Given the description of an element on the screen output the (x, y) to click on. 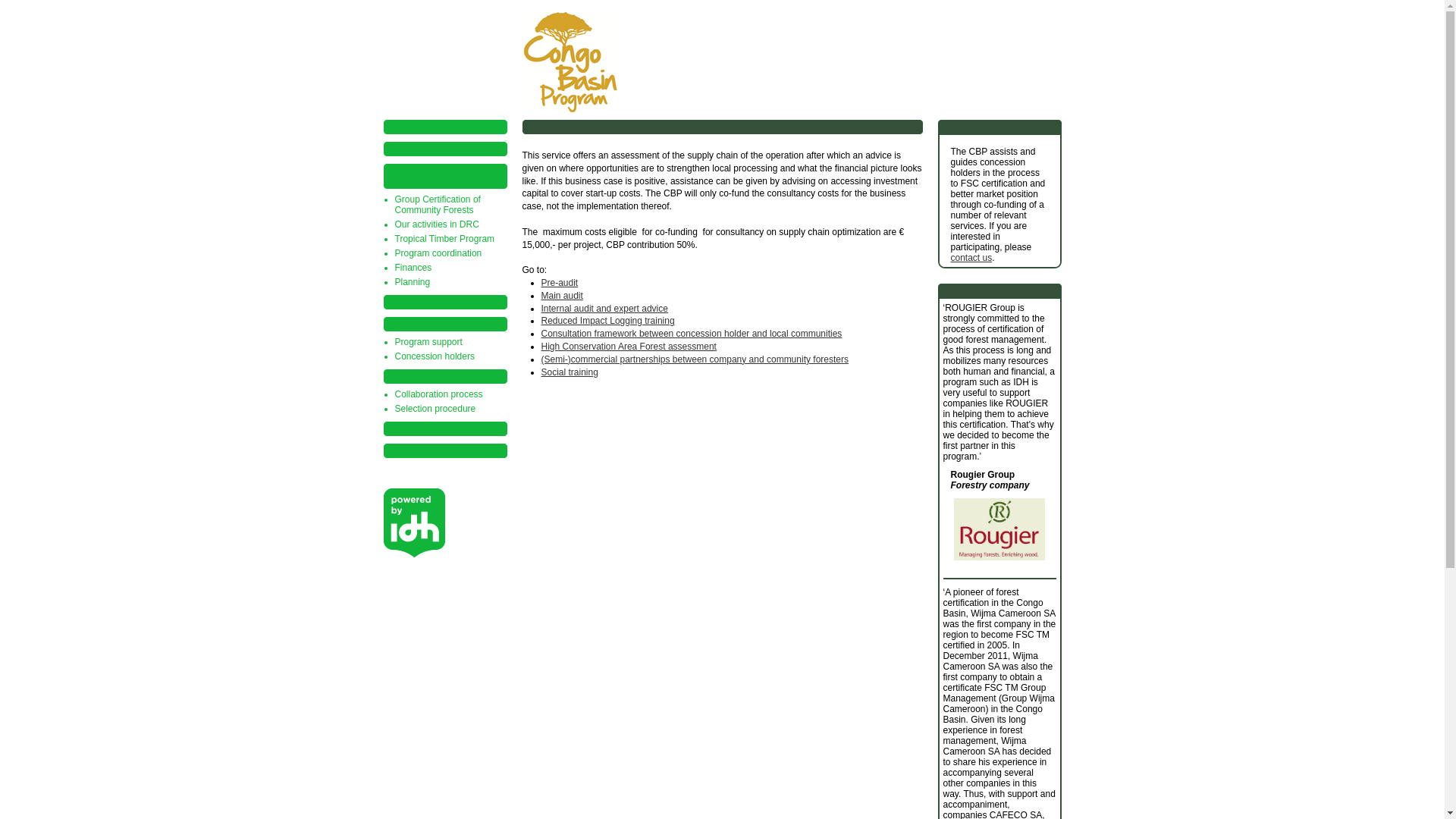
Finances (412, 267)
contact us (971, 257)
internal audit and expert advice (604, 308)
Main audit (562, 295)
Program coordination (437, 253)
Reduced Impact Logging training (608, 320)
Collaboration process (437, 394)
Tropical Timber Program (444, 238)
Social training (569, 371)
Our activities in DRC (436, 224)
HCVF analysis (628, 346)
Congo Basin (718, 61)
semi-commercial partnership (694, 358)
Selection procedure (435, 408)
